Given the description of an element on the screen output the (x, y) to click on. 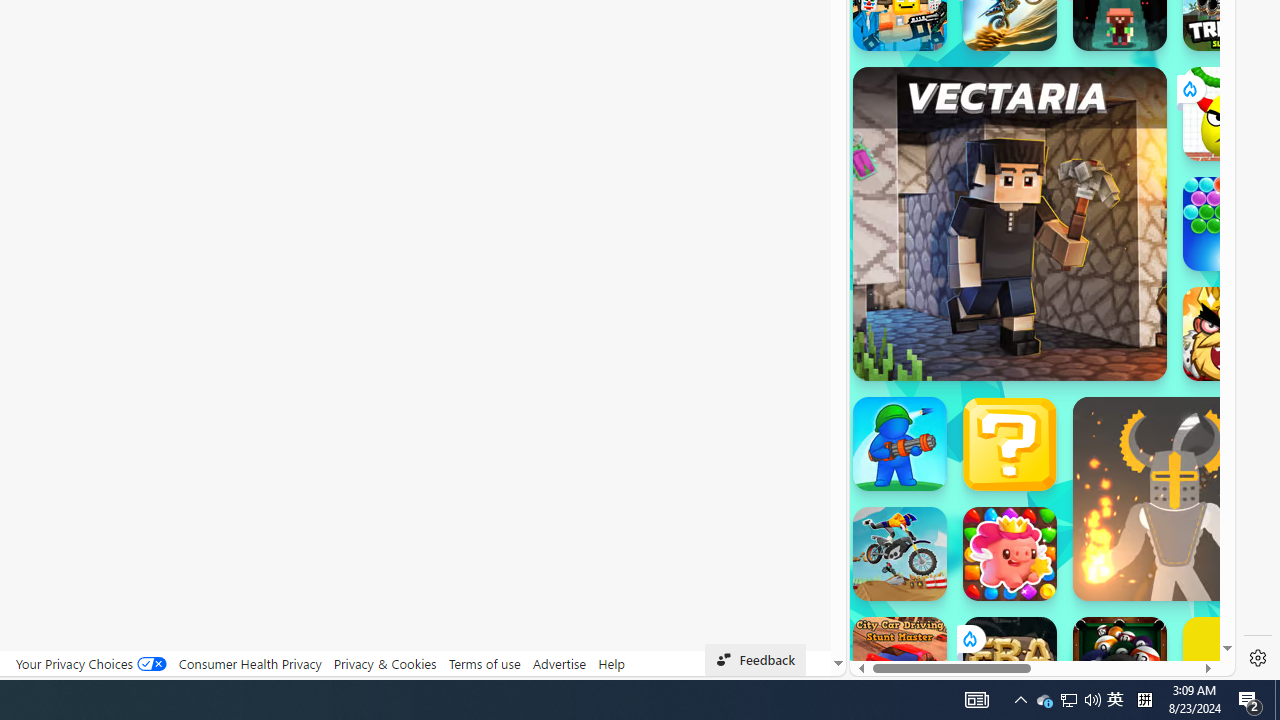
City Car Driving: Stunt Master (899, 664)
Draw To Smash: Logic Puzzle (1229, 113)
Combat Reloaded Combat Reloaded poki.com (1092, 245)
Bubble Shooter Bubble Shooter (1229, 223)
Class: rCs5cyEiqiTpYvt_VBCR (968, 638)
Era: Evolution Era: Evolution (1009, 664)
Hills of Steel (925, 290)
Your Privacy Choices (90, 663)
Poki (1034, 606)
SUBWAY SURFERS - Play Online for Free! | Poki (1034, 624)
Mystery Tile (1009, 443)
Vectaria.io (1009, 223)
Crazy Cars (1217, 290)
Ragdoll Hit Ragdoll Hit (1174, 498)
